Given the description of an element on the screen output the (x, y) to click on. 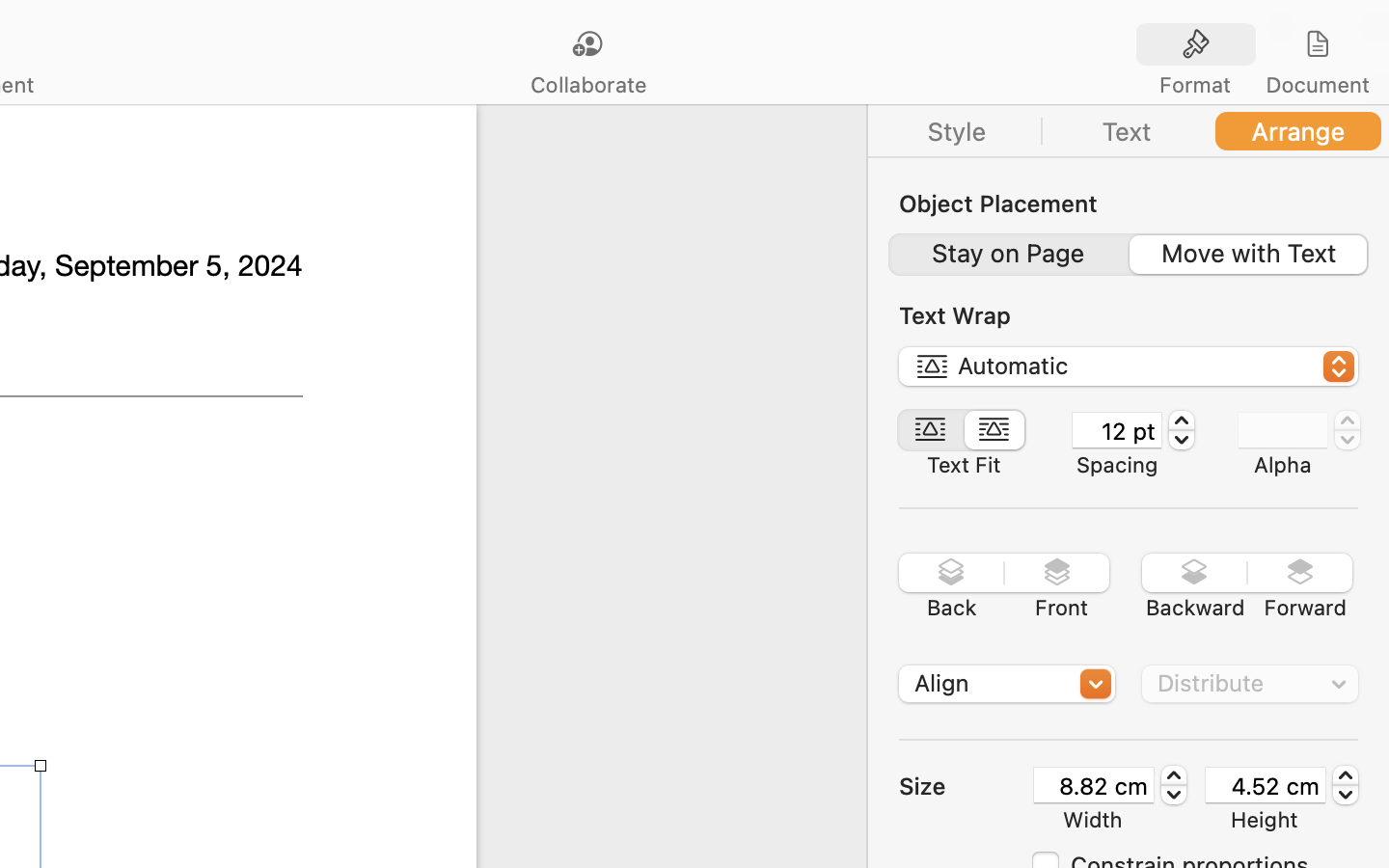
8.82 cm Element type: AXTextField (1093, 784)
<AXUIElement 0x17d70c6c0> {pid=1482} Element type: AXGroup (1256, 45)
128.0 Element type: AXIncrementor (1345, 785)
